Given the description of an element on the screen output the (x, y) to click on. 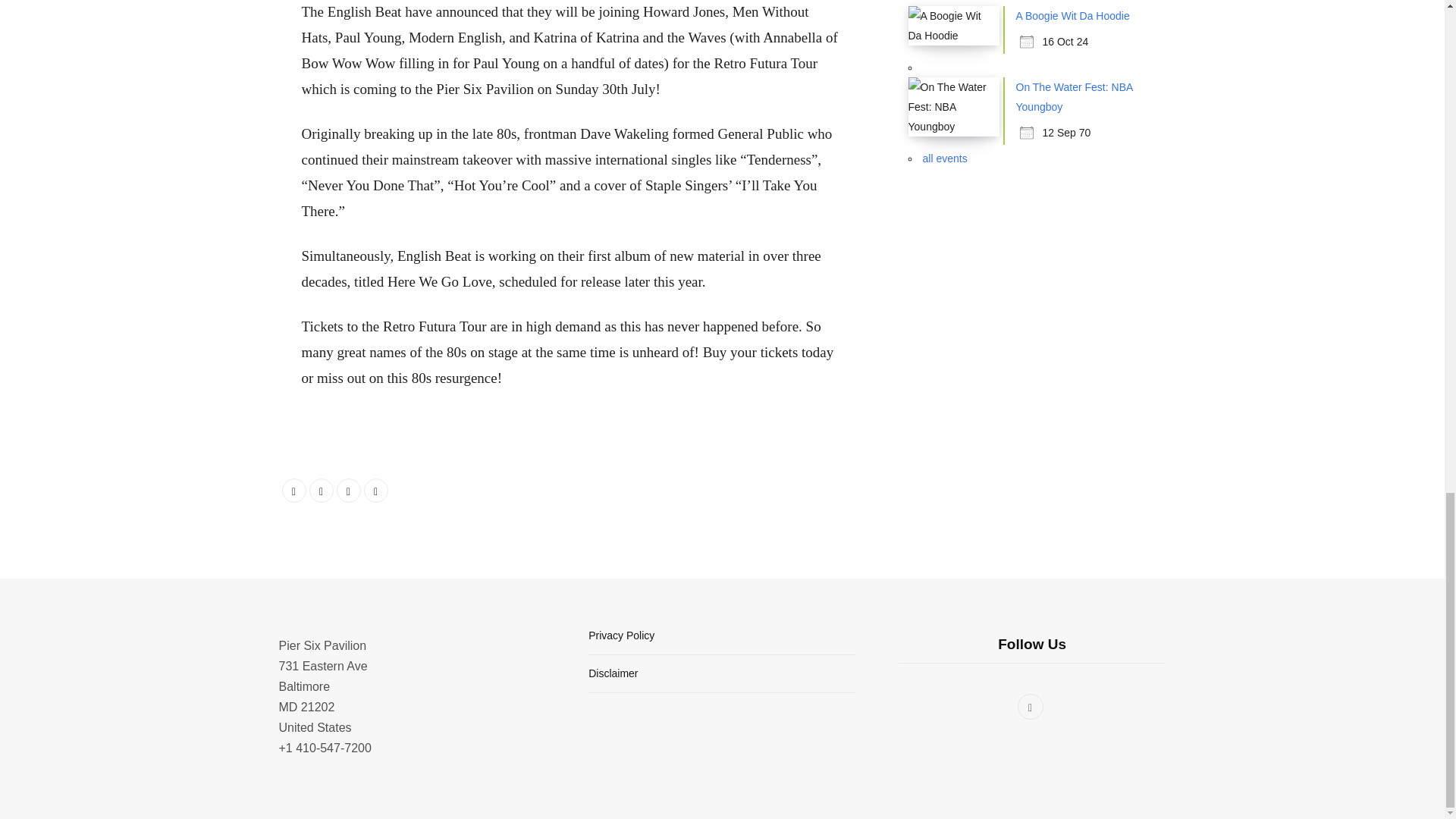
Disclaimer (612, 673)
Pinterest (376, 490)
Privacy Policy (620, 635)
Facebook (293, 490)
A Boogie Wit Da Hoodie (1072, 15)
all events (943, 158)
On The Water Fest: NBA Youngboy (1074, 97)
Twitter (320, 490)
MECU Pavilion Privacy Policy (620, 635)
all events (943, 158)
